Given the description of an element on the screen output the (x, y) to click on. 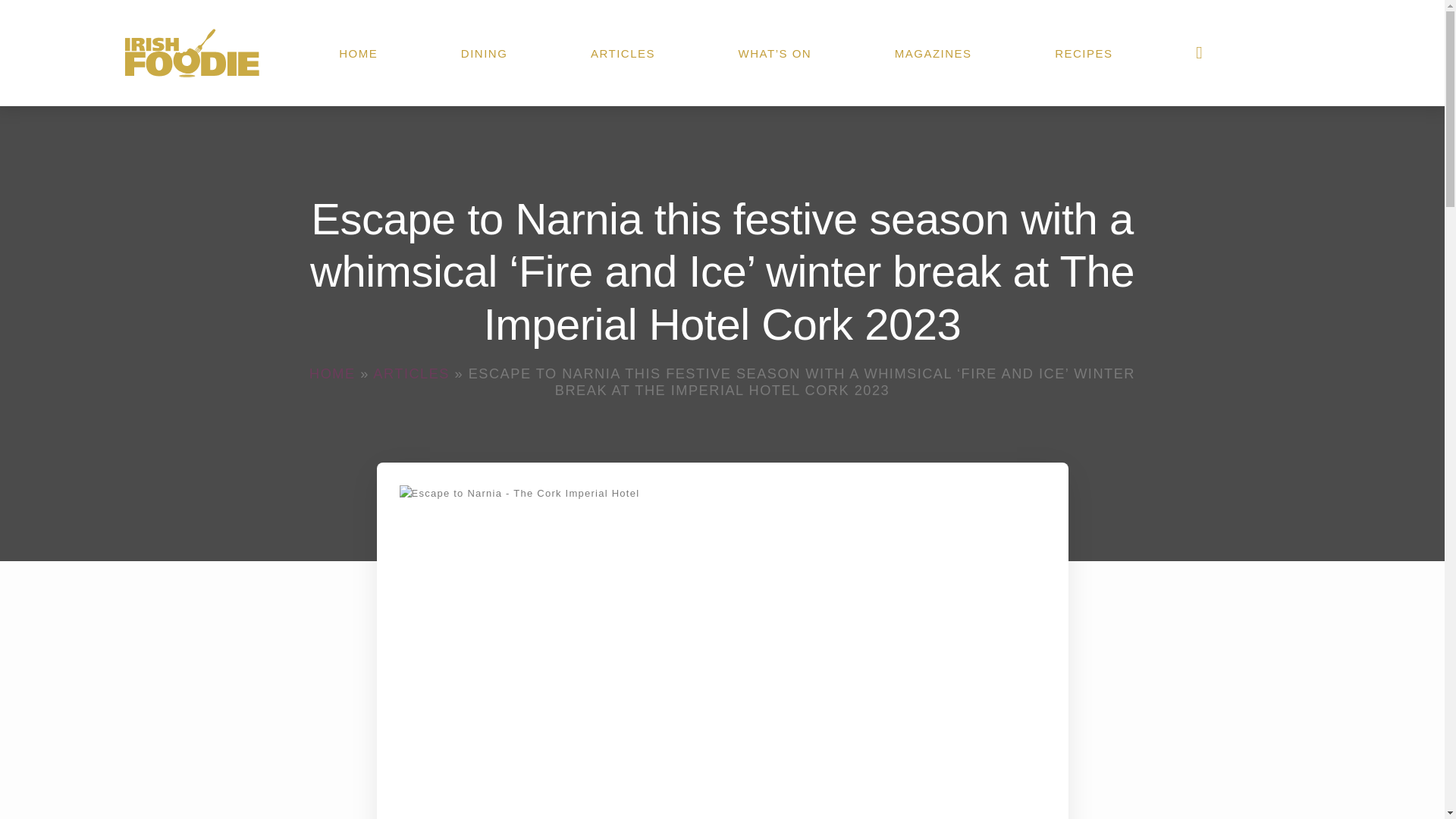
DINING (483, 52)
ARTICLES (410, 373)
HOME (358, 52)
ARTICLES (622, 52)
HOME (331, 373)
MAGAZINES (933, 52)
RECIPES (1083, 52)
